Given the description of an element on the screen output the (x, y) to click on. 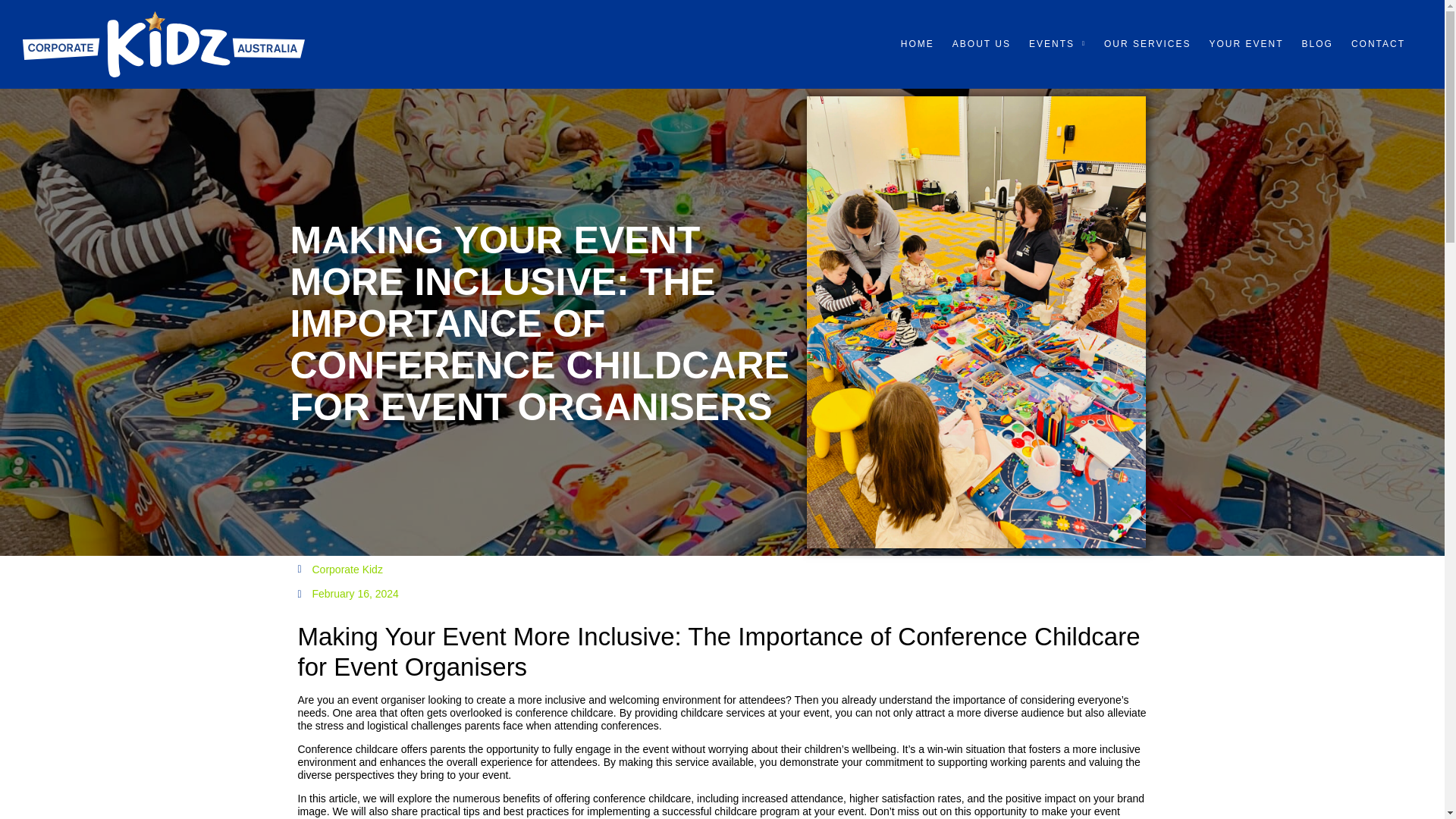
CONTACT (1377, 43)
YOUR EVENT (1245, 43)
BLOG (1317, 43)
ABOUT US (981, 43)
February 16, 2024 (347, 594)
Corporate Kidz (339, 569)
HOME (917, 43)
OUR SERVICES (1146, 43)
EVENTS (1057, 43)
